Given the description of an element on the screen output the (x, y) to click on. 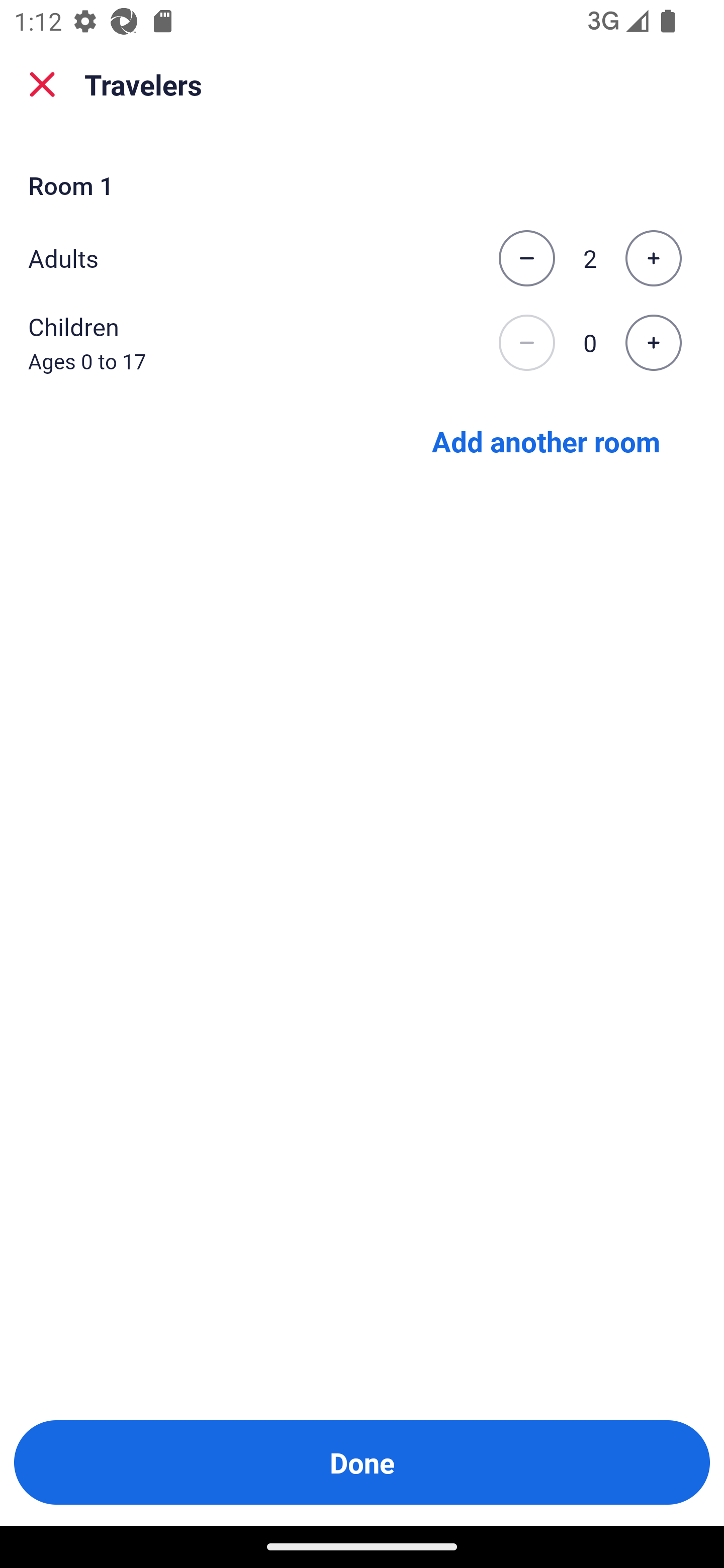
close (42, 84)
Decrease the number of adults (526, 258)
Increase the number of adults (653, 258)
Decrease the number of children (526, 343)
Increase the number of children (653, 343)
Add another room (545, 440)
Done (361, 1462)
